Given the description of an element on the screen output the (x, y) to click on. 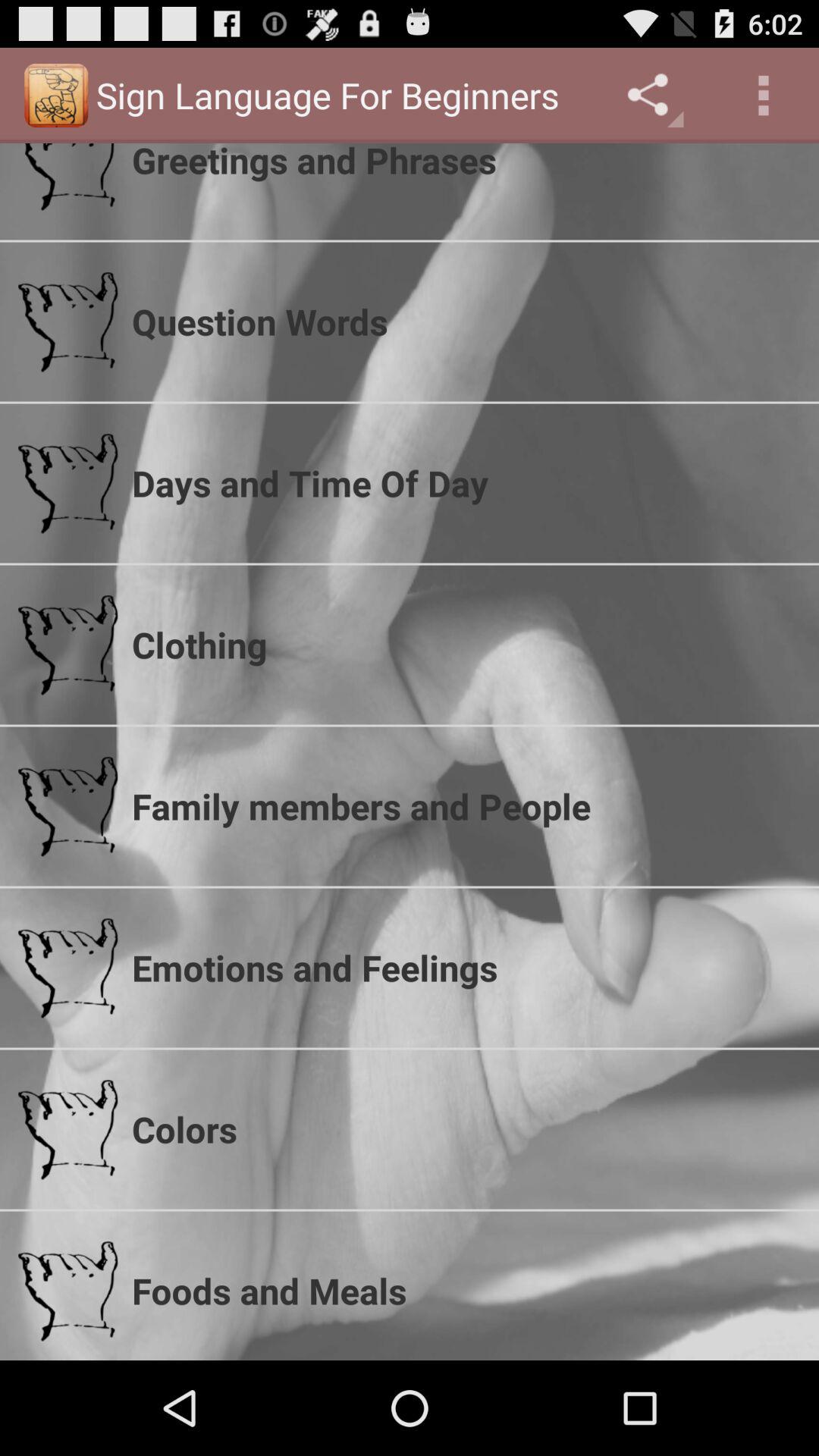
select the days and time app (465, 482)
